Given the description of an element on the screen output the (x, y) to click on. 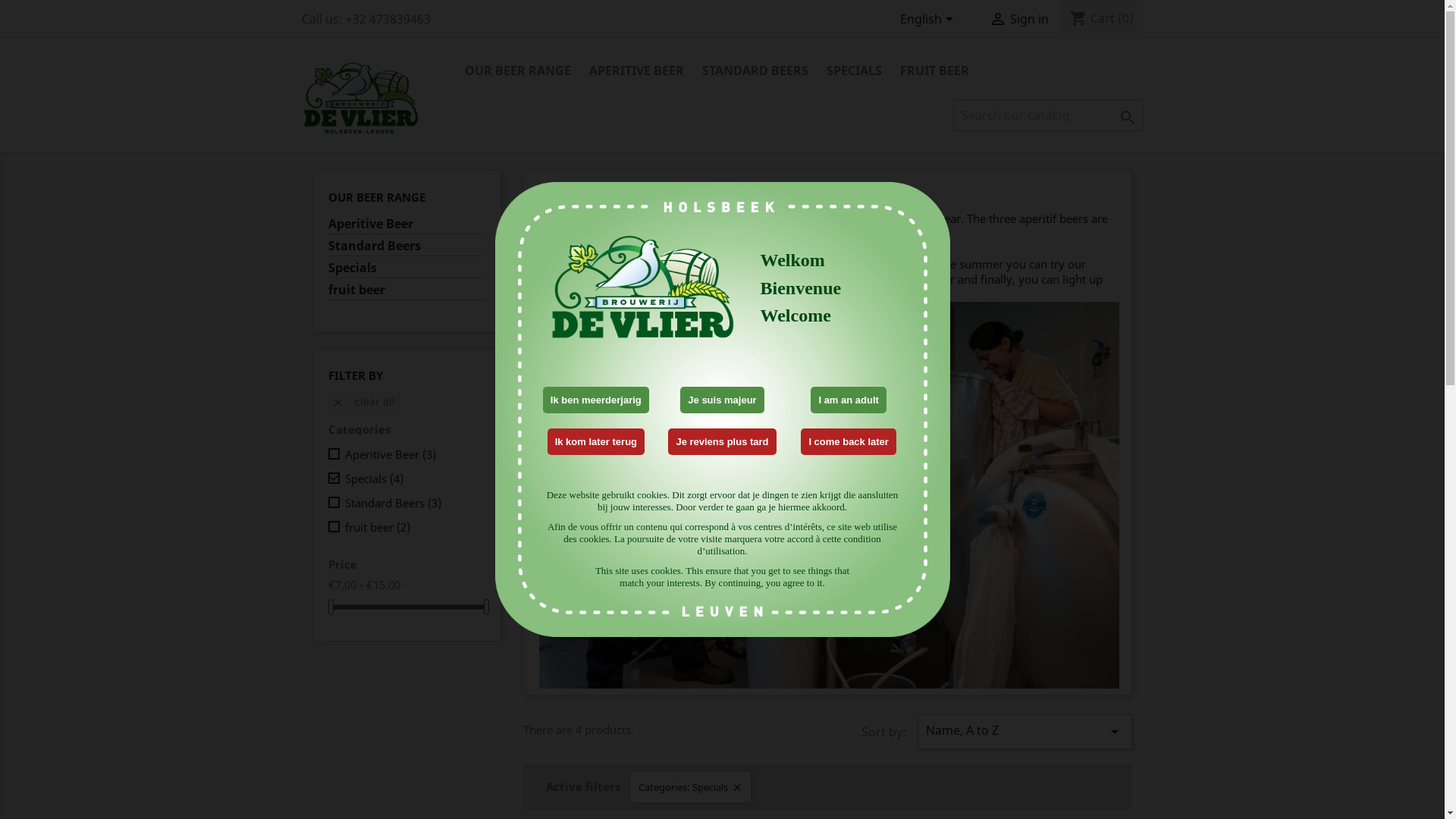
Standard Beers Element type: text (406, 247)
SPECIALS Element type: text (854, 71)
Specials (4) Element type: text (411, 478)
OUR BEER RANGE Element type: text (375, 196)
Ik ben meerderjarig Element type: text (595, 399)
Je suis majeur Element type: text (721, 399)
Je reviens plus tard Element type: text (721, 441)
I come back later Element type: text (848, 441)
Specials Element type: text (406, 269)
FRUIT BEER Element type: text (933, 71)
APERITIVE BEER Element type: text (635, 71)
Standard Beers (3) Element type: text (411, 502)
Ik kom later terug Element type: text (595, 441)
OUR BEER RANGE Element type: text (516, 71)
I am an adult Element type: text (847, 399)
STANDARD BEERS Element type: text (754, 71)
Aperitive Beer (3) Element type: text (411, 453)
fruit beer (2) Element type: text (411, 526)
Aperitive Beer Element type: text (406, 225)
fruit beer Element type: text (406, 291)
